Given the description of an element on the screen output the (x, y) to click on. 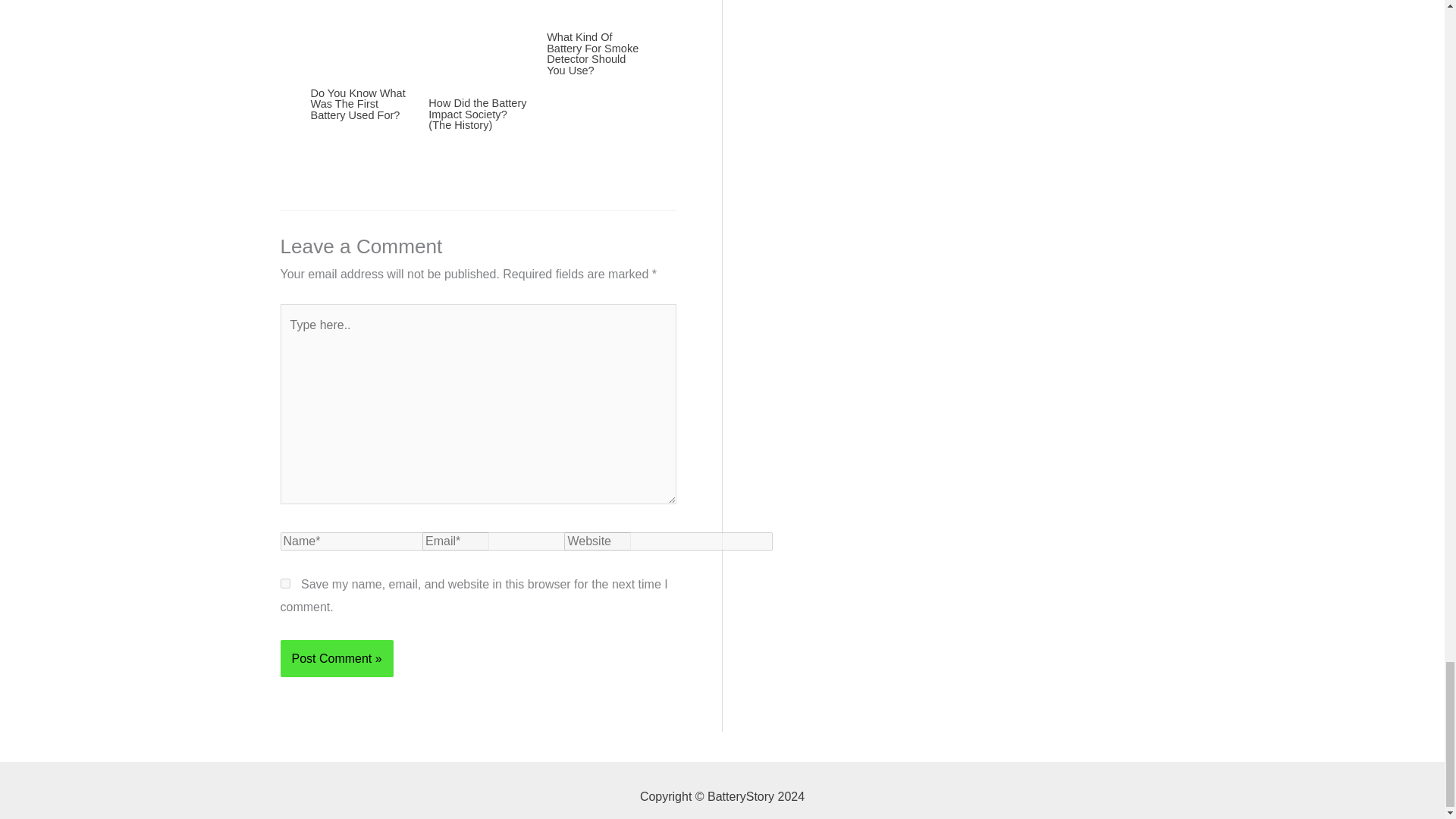
Do You Know What Was The First Battery Used For? 1 (360, 47)
yes (285, 583)
Do You Know What Was The First Battery Used For? (358, 103)
What Kind Of Battery For Smoke Detector Should You Use? (593, 53)
